Given the description of an element on the screen output the (x, y) to click on. 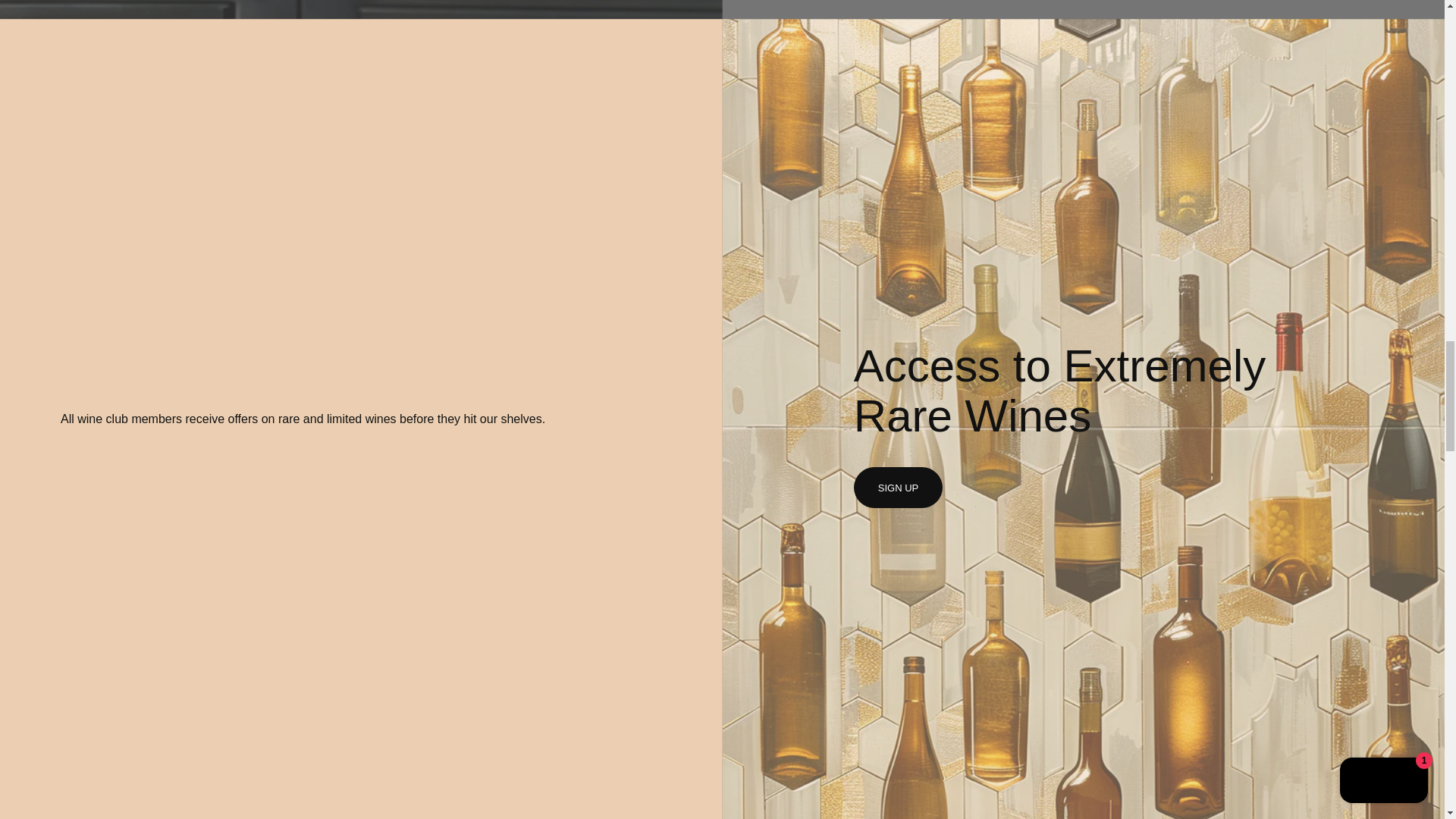
SIGN UP (897, 486)
Sign up (897, 486)
